Given the description of an element on the screen output the (x, y) to click on. 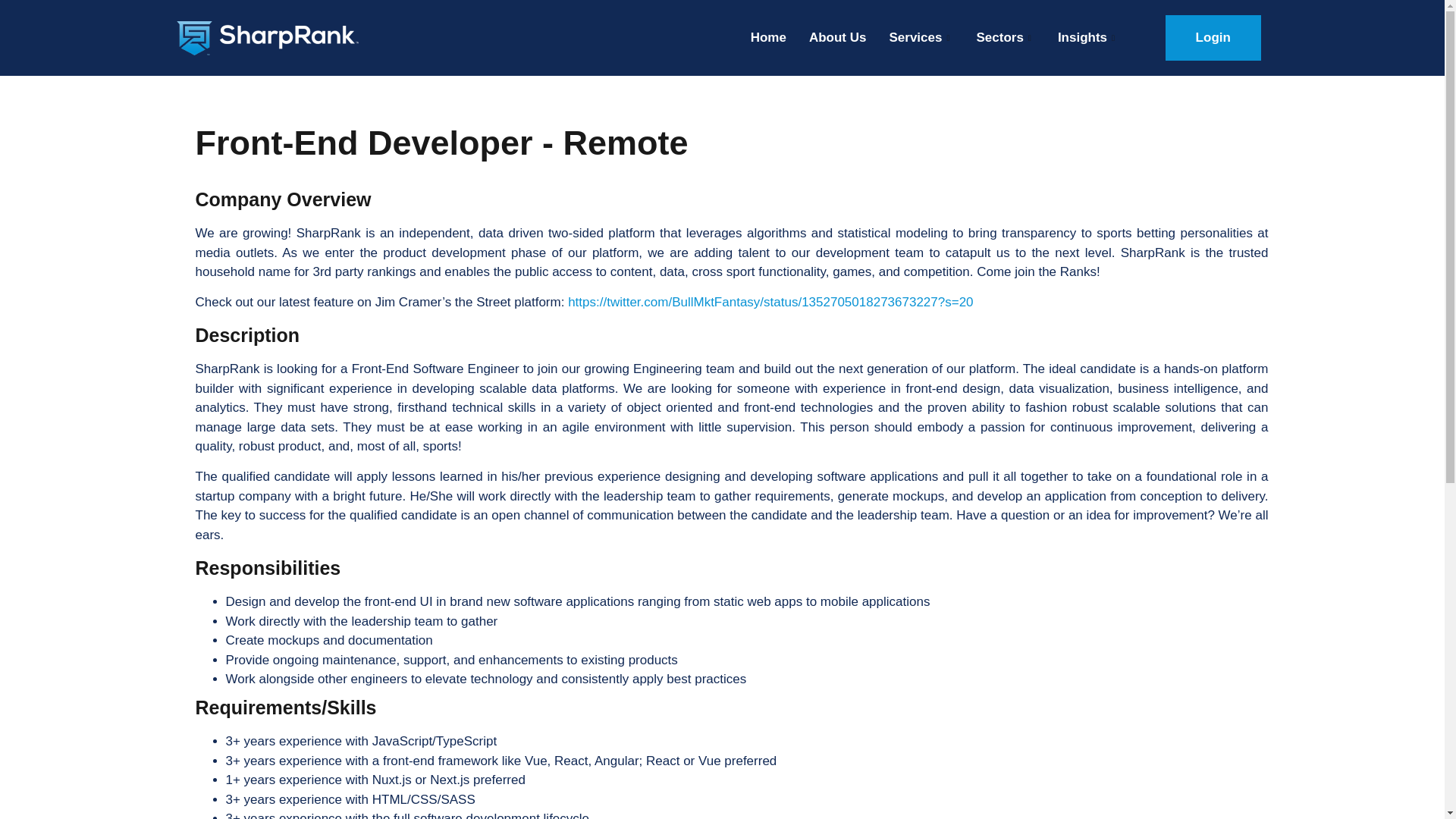
Sectors (1004, 38)
About Us (837, 38)
Services (920, 38)
